Given the description of an element on the screen output the (x, y) to click on. 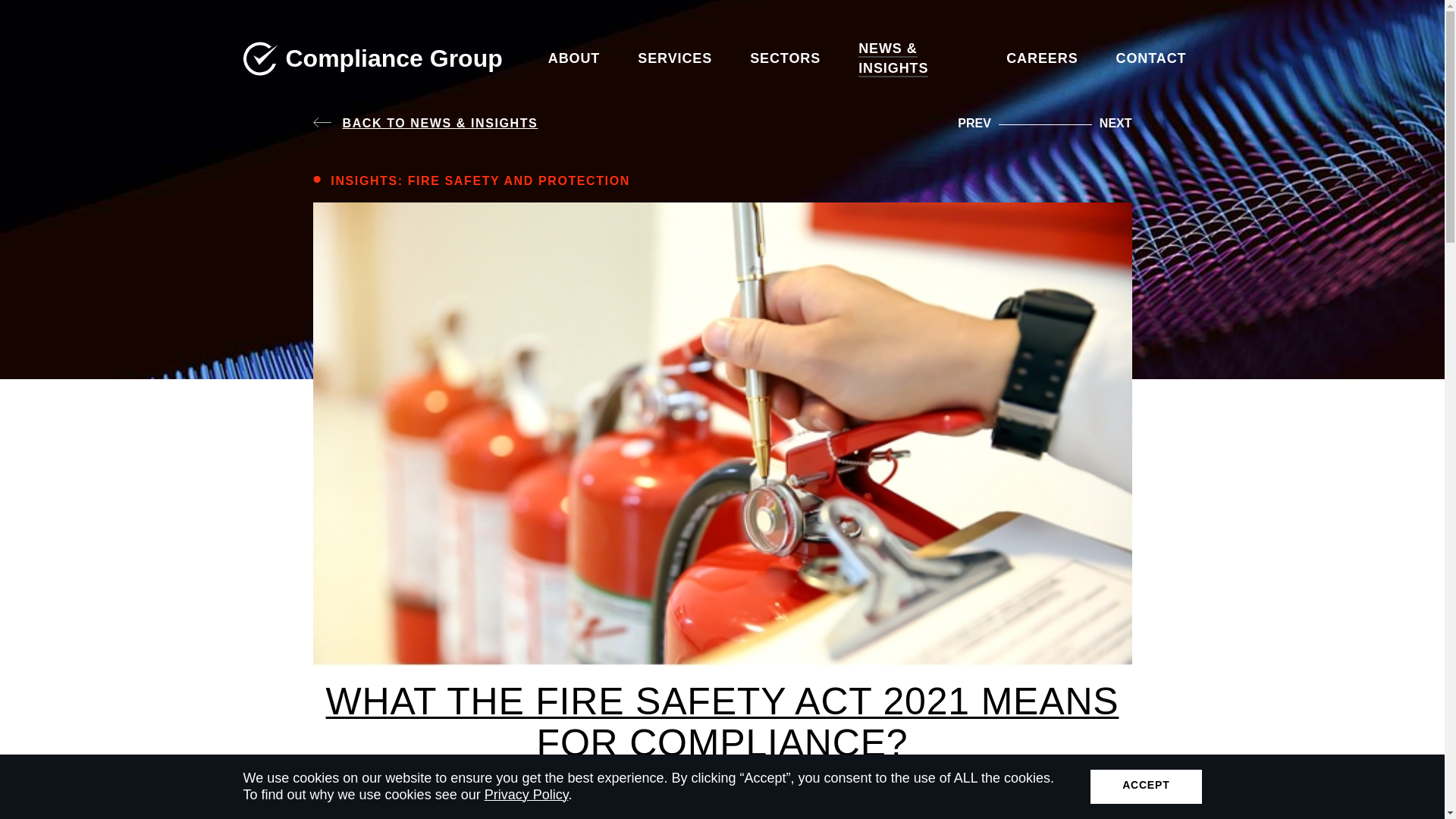
ABOUT (558, 58)
CAREERS (1042, 58)
SECTORS (785, 58)
CONTACT (1151, 58)
Compliance Group (372, 57)
SERVICES (674, 58)
